Given the description of an element on the screen output the (x, y) to click on. 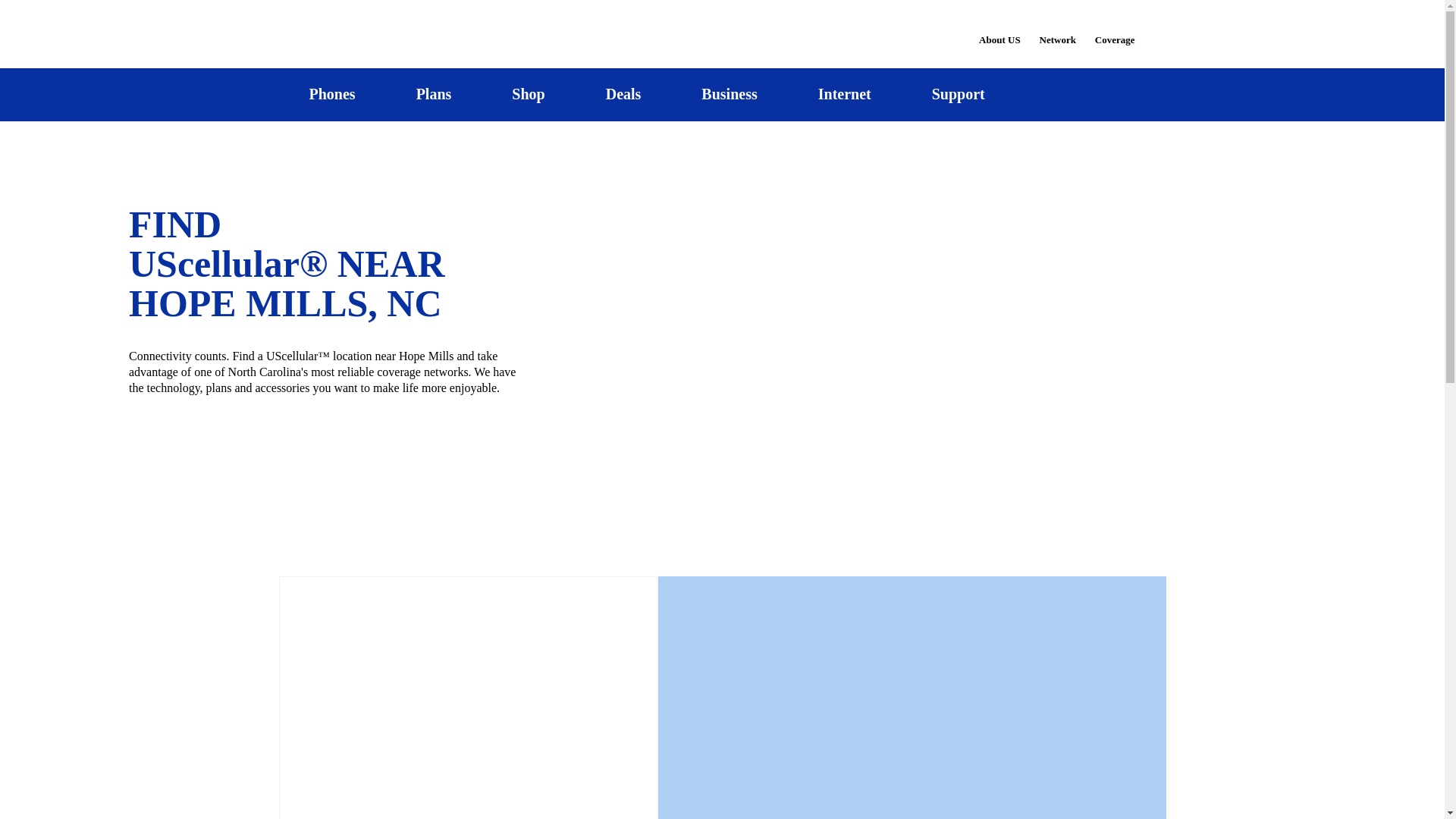
Phones (332, 94)
Coverage (1115, 29)
Deals (623, 94)
Shop (528, 94)
About US (999, 30)
Business (729, 94)
Internet (844, 94)
Support (957, 94)
Plans (433, 94)
Network (1057, 30)
